Given the description of an element on the screen output the (x, y) to click on. 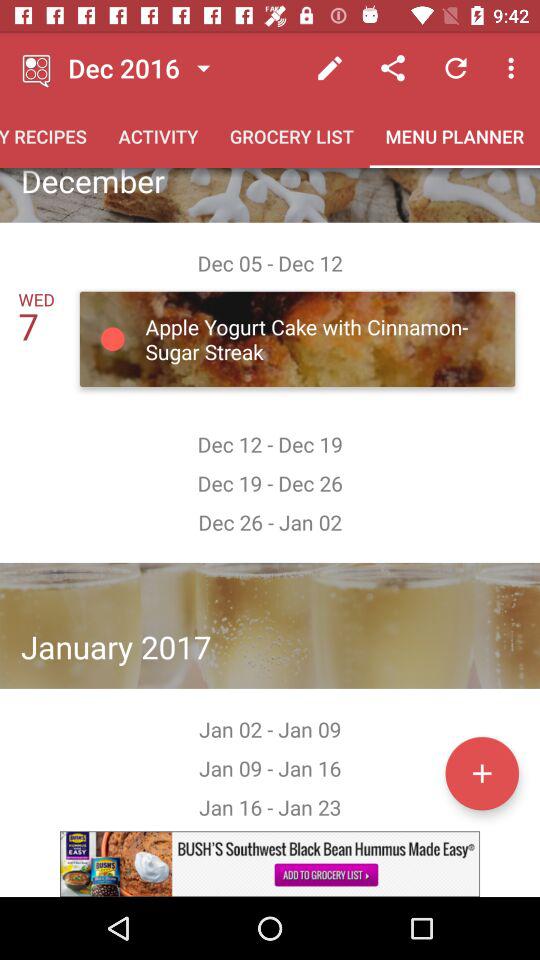
add new entry (482, 773)
